Given the description of an element on the screen output the (x, y) to click on. 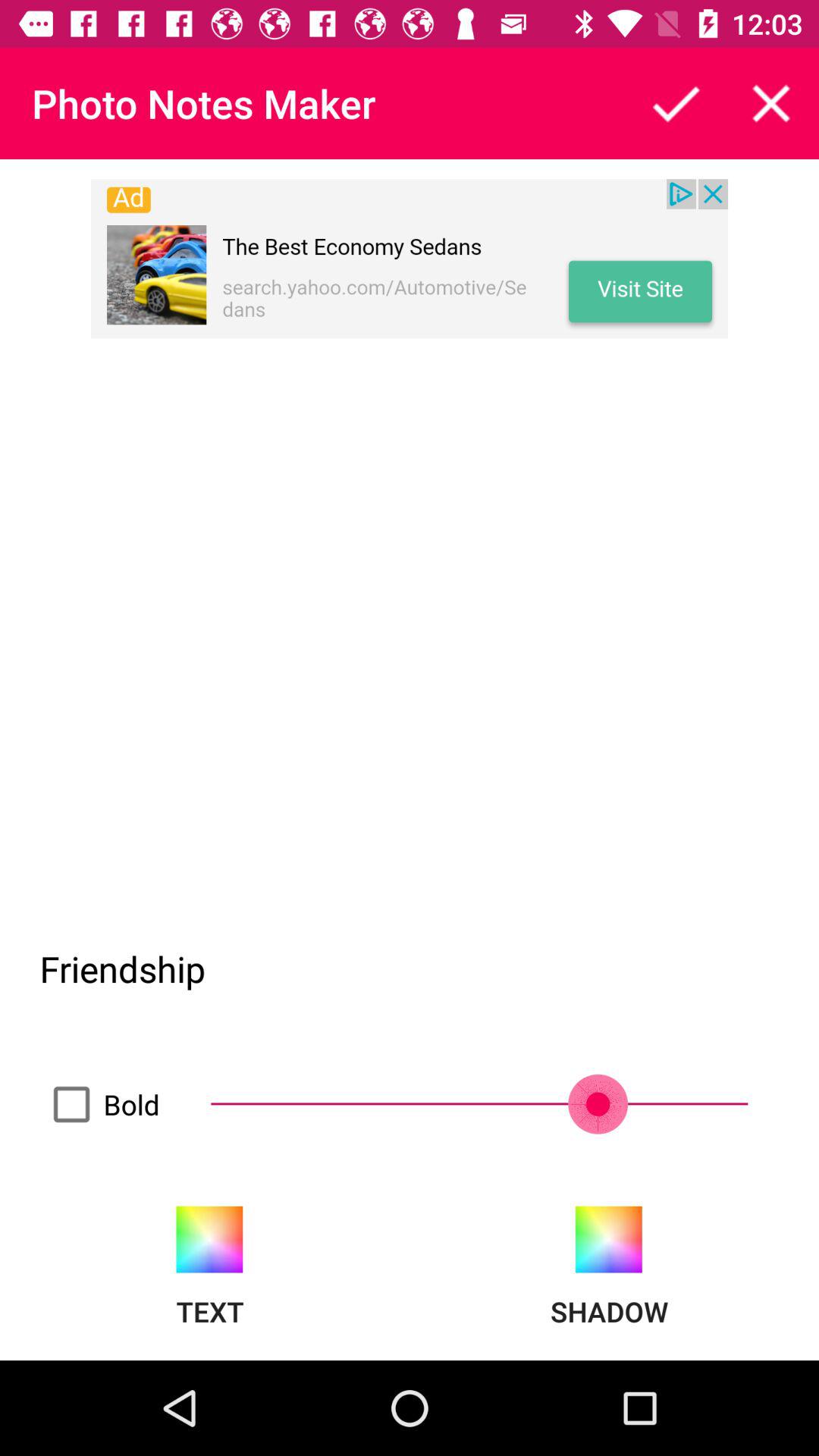
select the app (675, 103)
